Given the description of an element on the screen output the (x, y) to click on. 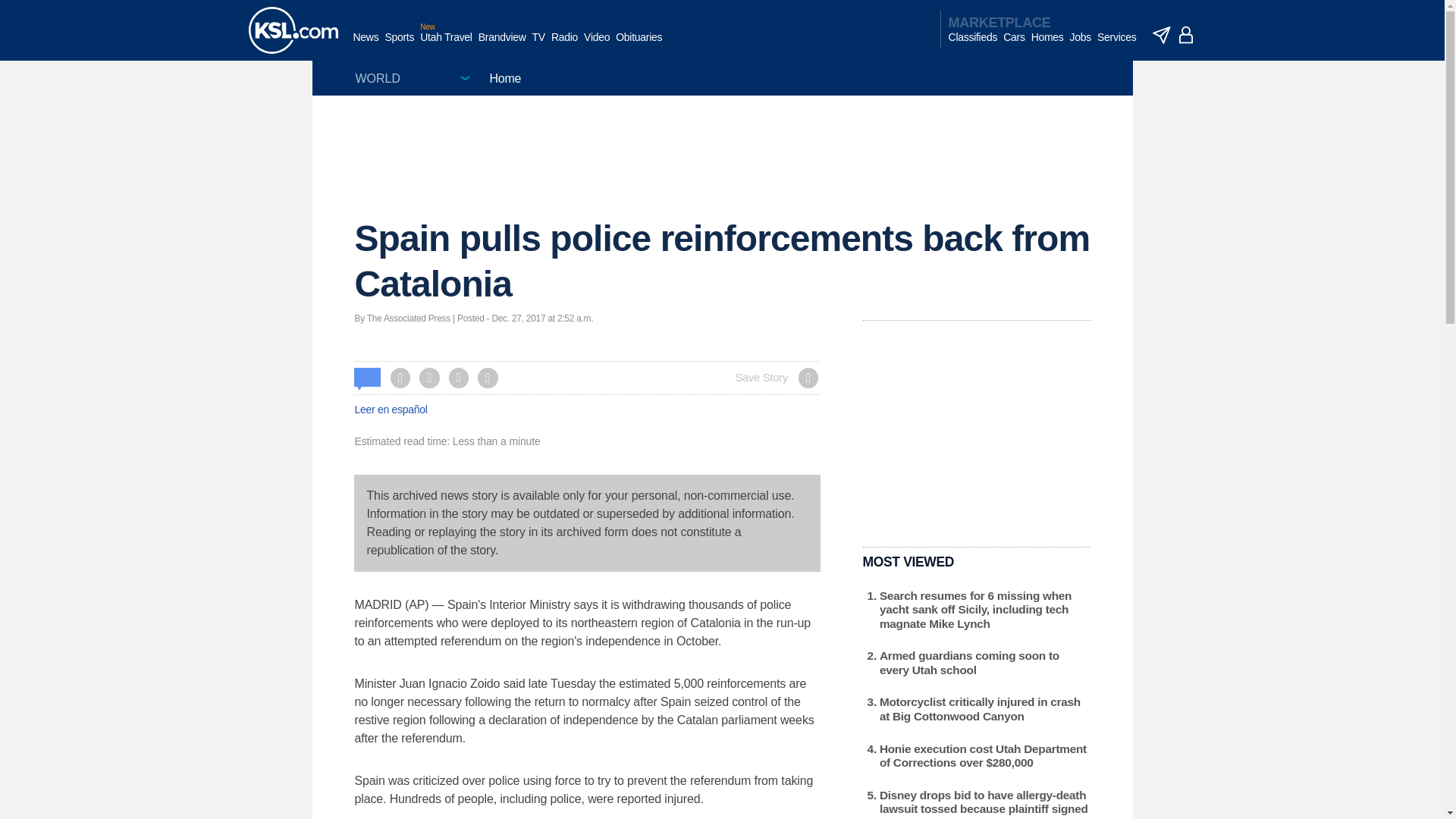
KSL homepage (292, 29)
Brandview (502, 45)
KSL homepage (292, 30)
Utah Travel (445, 45)
Sports (398, 45)
account - logged out (1185, 34)
